Given the description of an element on the screen output the (x, y) to click on. 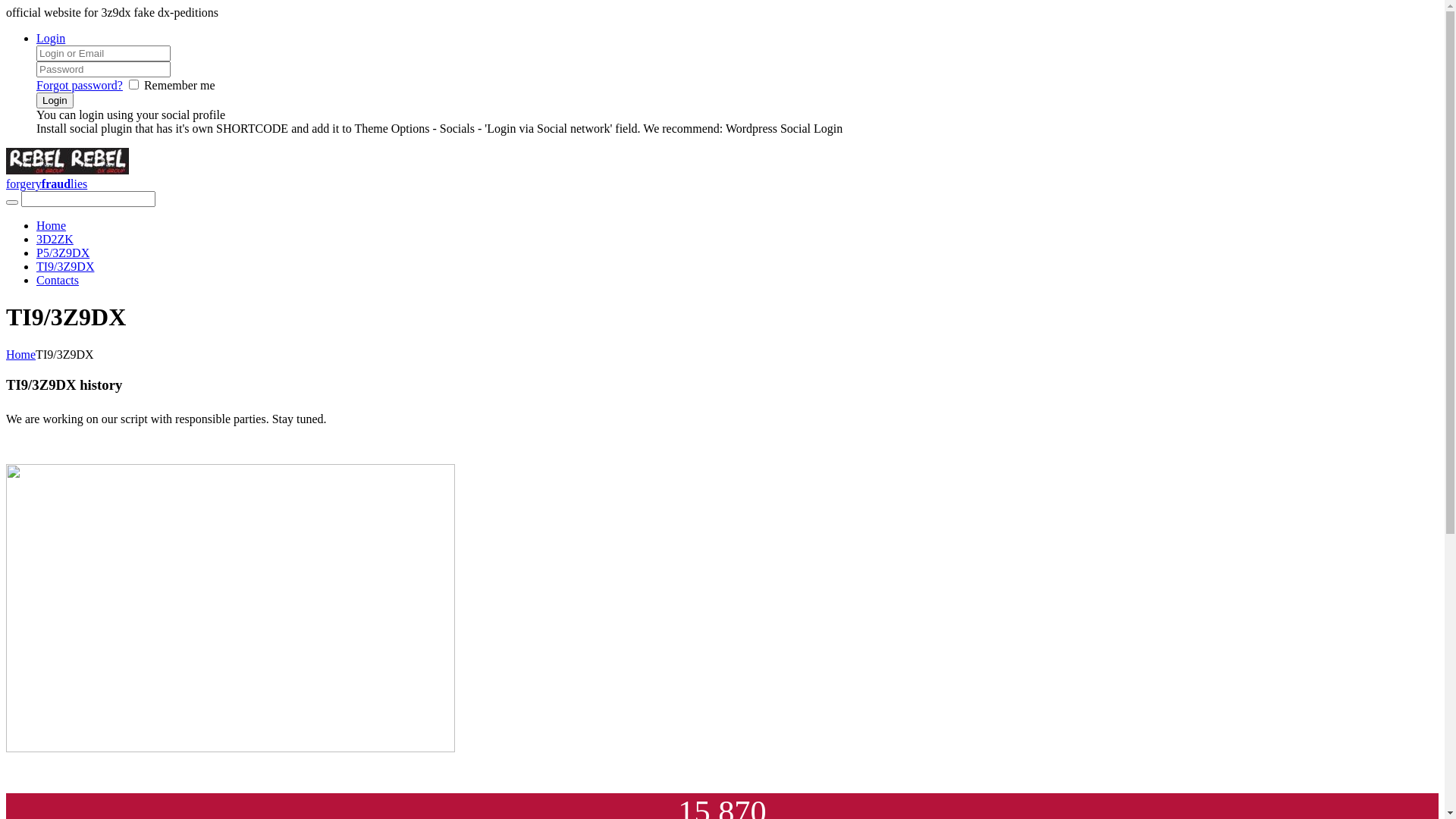
Login Element type: text (54, 100)
Login Element type: text (50, 37)
Home Element type: text (20, 354)
Home Element type: text (50, 225)
P5/3Z9DX Element type: text (62, 252)
Start search Element type: hover (12, 202)
forgeryfraudlies Element type: text (722, 177)
3D2ZK Element type: text (54, 238)
Contacts Element type: text (57, 279)
Forgot password? Element type: text (79, 84)
TI9/3Z9DX Element type: text (65, 266)
